Given the description of an element on the screen output the (x, y) to click on. 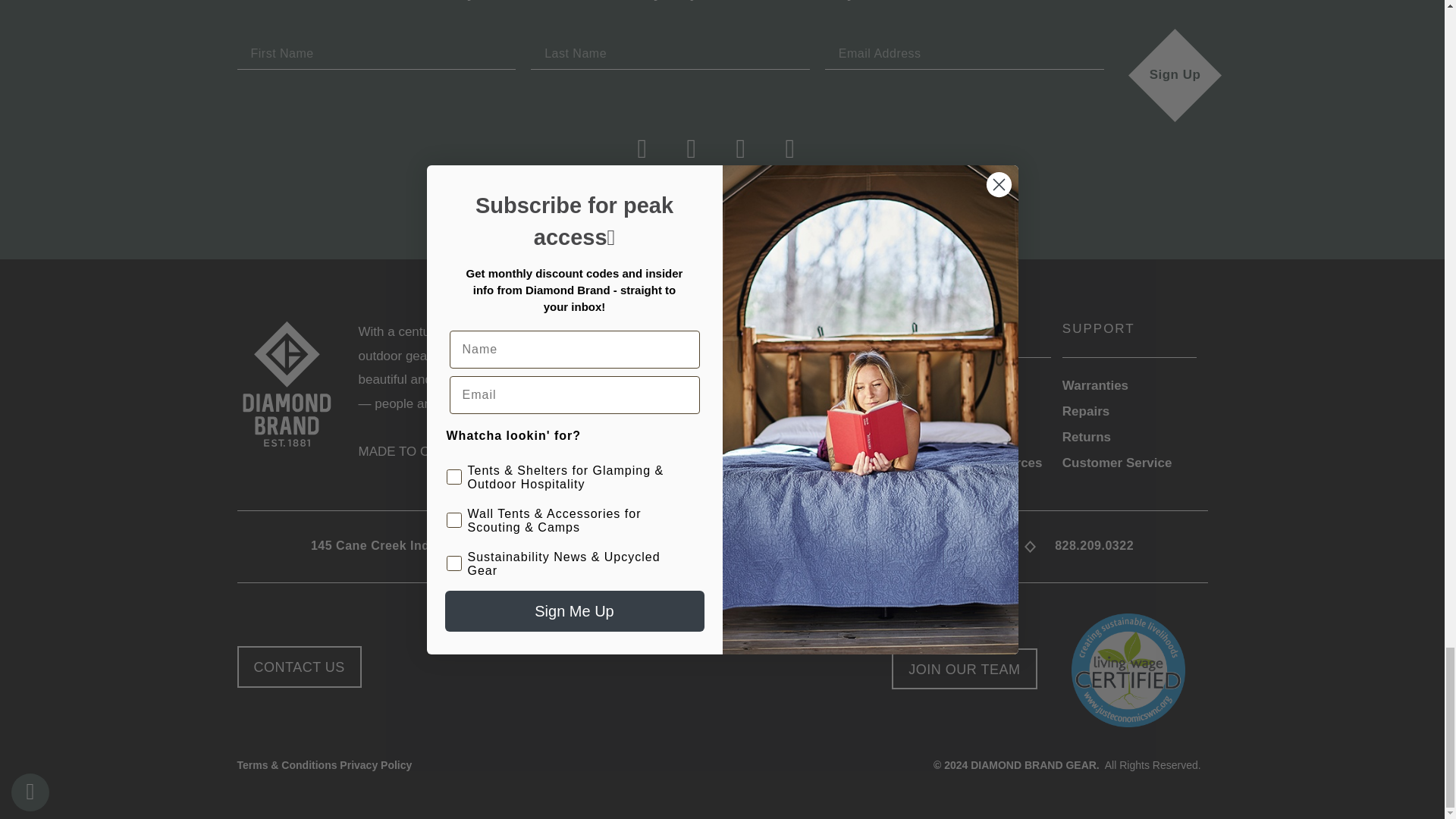
Sign Up (1174, 75)
